Given the description of an element on the screen output the (x, y) to click on. 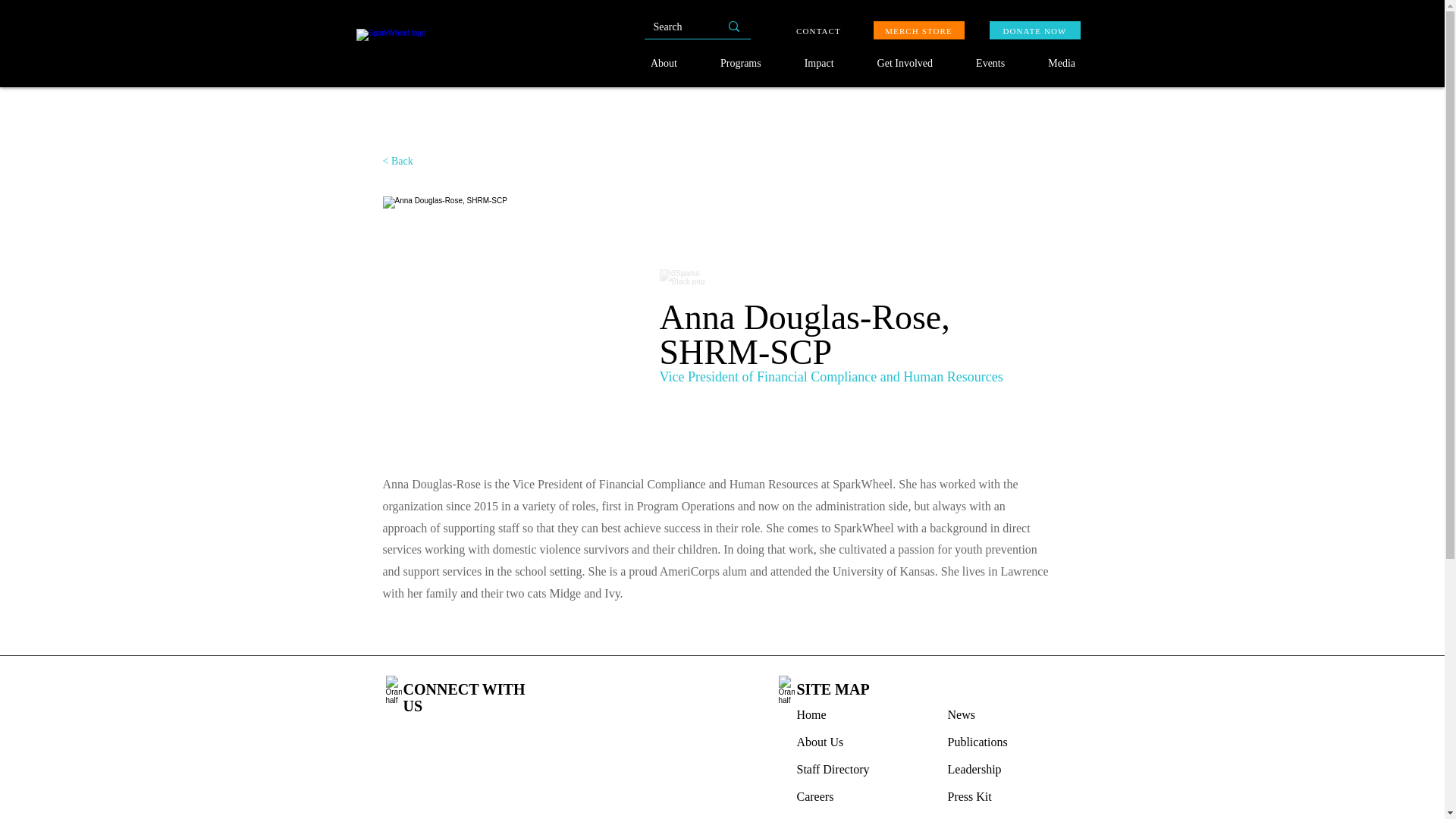
MERCH STORE (918, 30)
CONTACT (817, 30)
DONATE NOW (1034, 30)
About Us (819, 741)
Impact (818, 63)
Home (810, 714)
About (663, 63)
Get Involved (905, 63)
Anna Douglas Rose.jpg (502, 317)
Programs (740, 63)
